Given the description of an element on the screen output the (x, y) to click on. 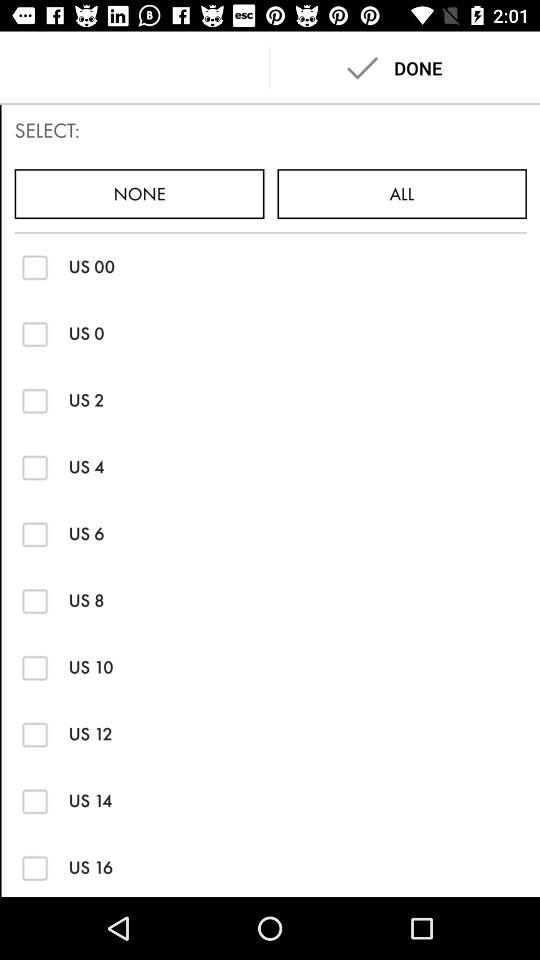
select size 10 option (34, 667)
